Given the description of an element on the screen output the (x, y) to click on. 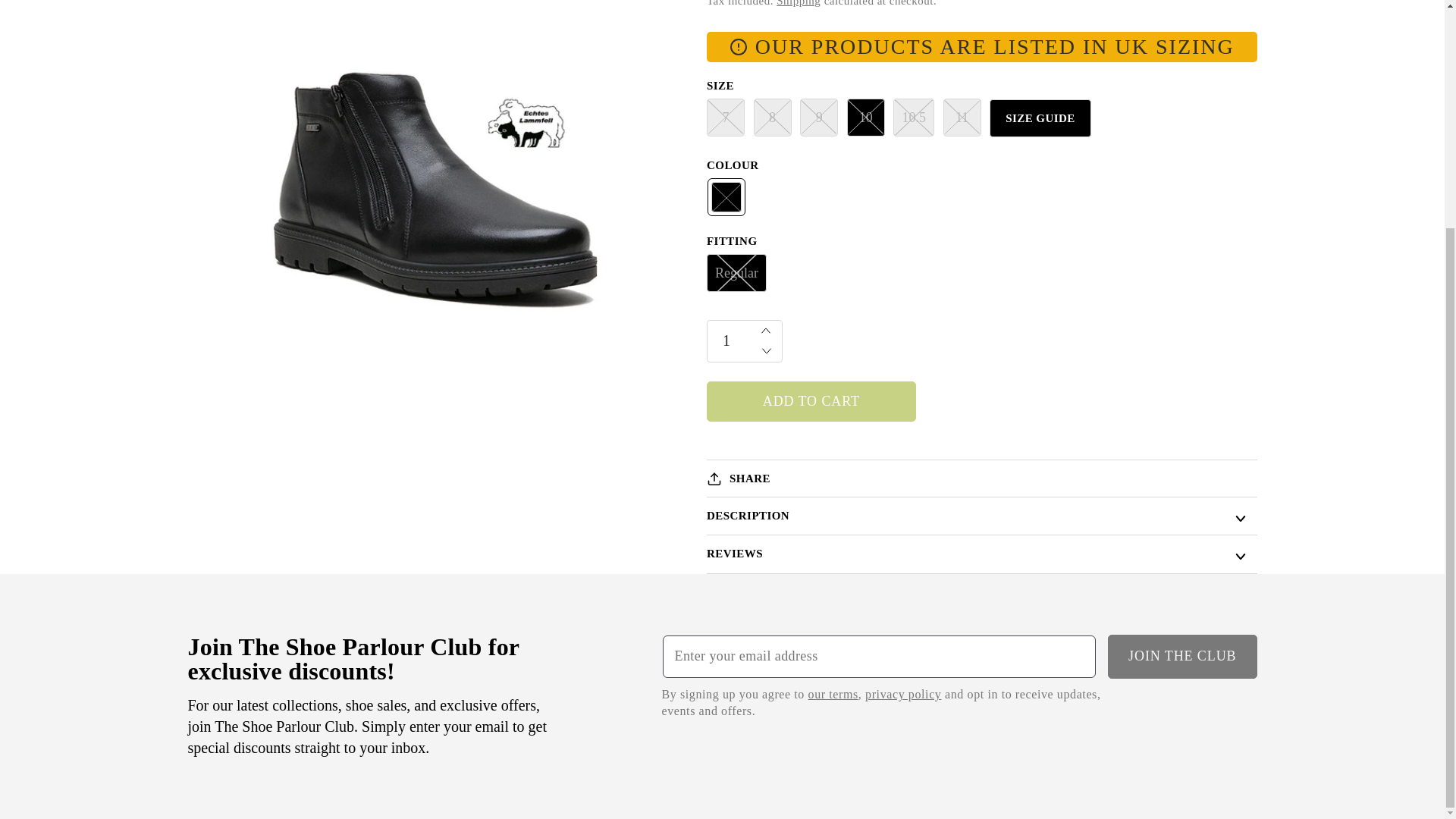
1 (744, 341)
